Given the description of an element on the screen output the (x, y) to click on. 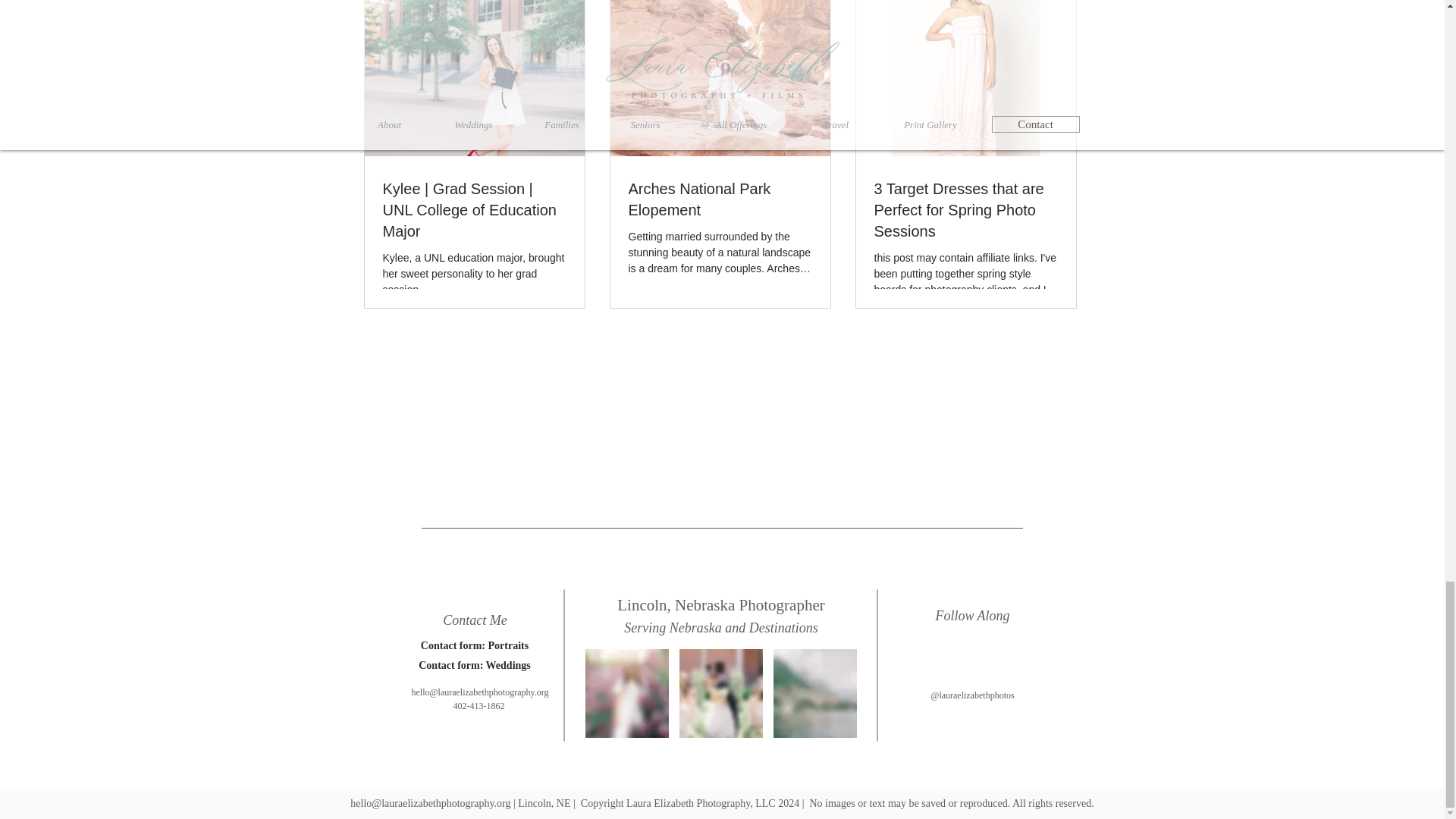
spring-photo-22 (815, 693)
spring-photo-22 (626, 693)
spring-photo-22 (720, 693)
